Given the description of an element on the screen output the (x, y) to click on. 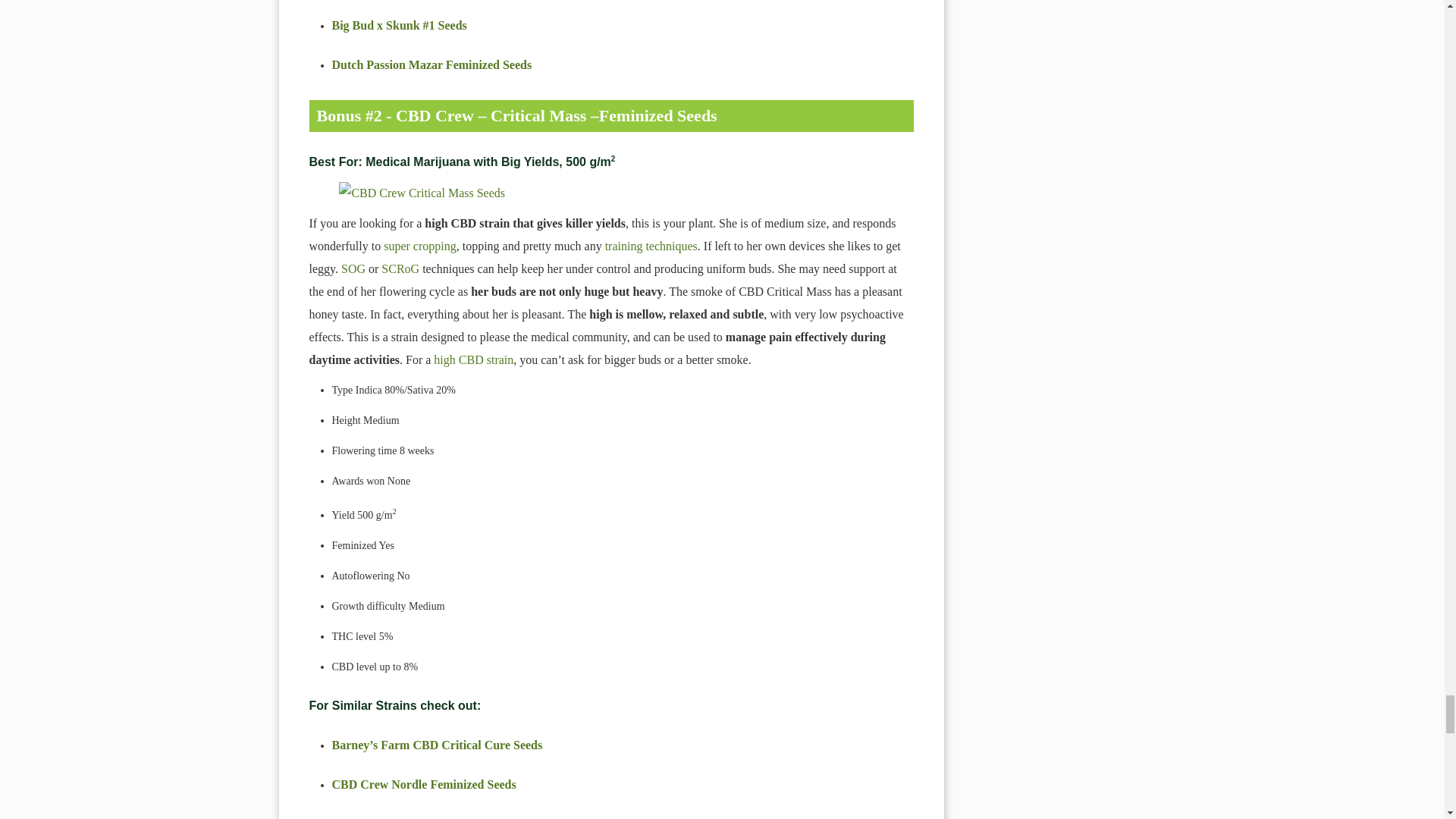
CBD Crew Critical Mass Seeds (611, 192)
